Given the description of an element on the screen output the (x, y) to click on. 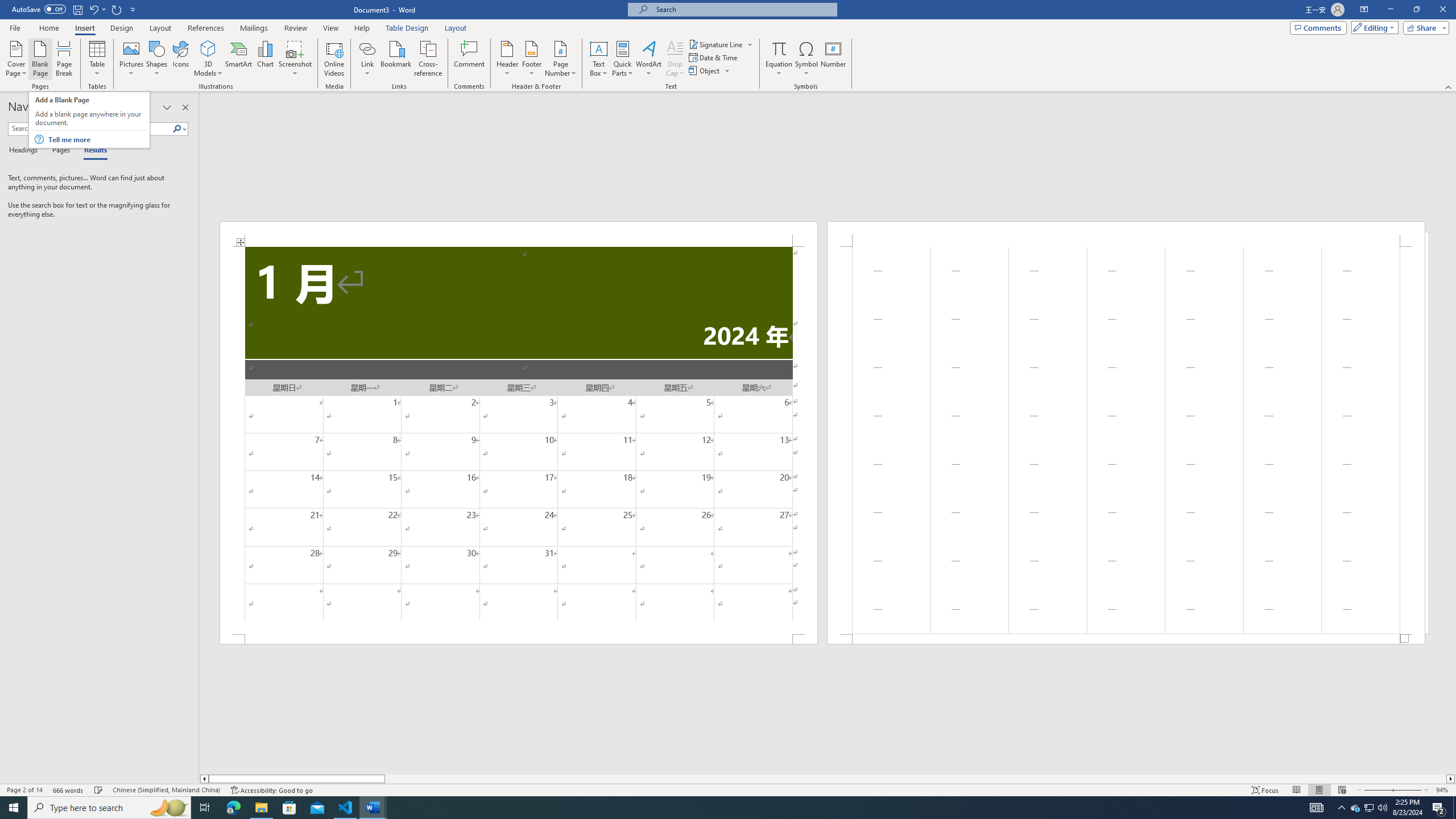
Header (507, 58)
Table (97, 58)
Pictures (131, 58)
Footer (531, 58)
Icons (180, 58)
Column right (1450, 778)
Symbol (806, 58)
